Given the description of an element on the screen output the (x, y) to click on. 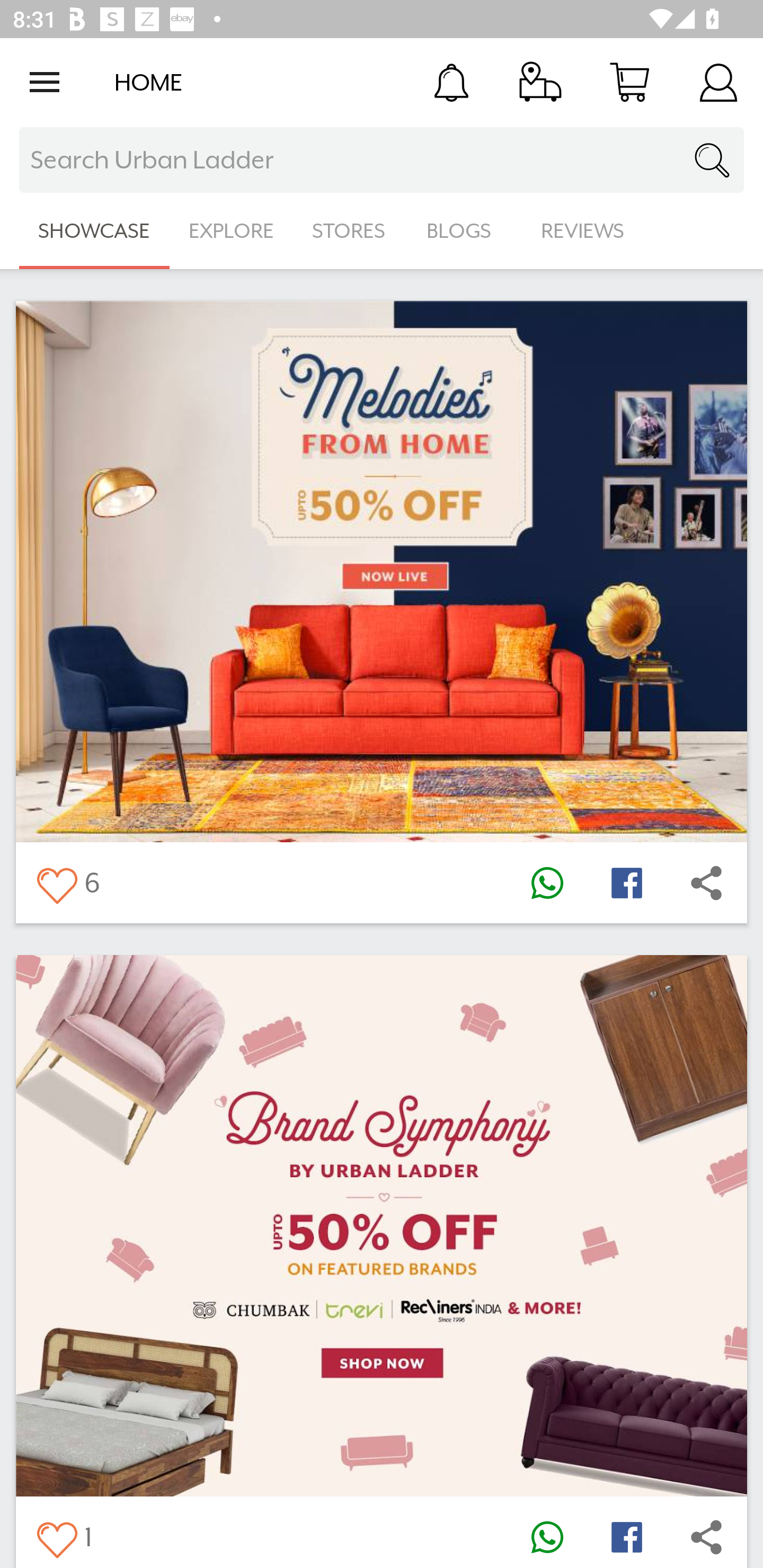
Open navigation drawer (44, 82)
Notification (450, 81)
Track Order (540, 81)
Cart (629, 81)
Account Details (718, 81)
Search Urban Ladder  (381, 159)
SHOWCASE (94, 230)
EXPLORE (230, 230)
STORES (349, 230)
BLOGS (464, 230)
REVIEWS (582, 230)
 (55, 882)
 (547, 882)
 (626, 882)
 (706, 882)
 (55, 1536)
 (547, 1536)
 (626, 1536)
 (706, 1536)
